Given the description of an element on the screen output the (x, y) to click on. 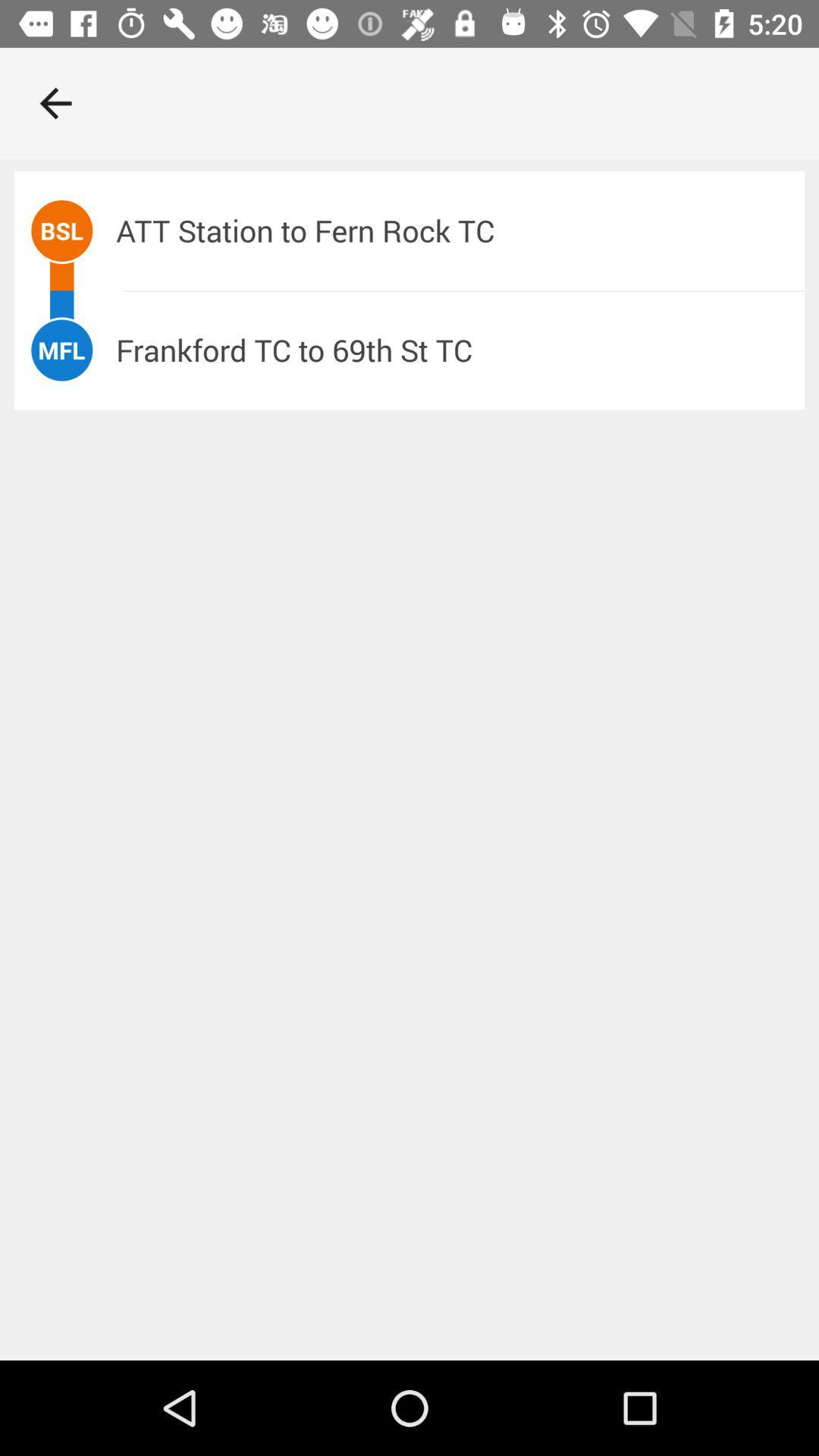
select mfl (61, 349)
